Given the description of an element on the screen output the (x, y) to click on. 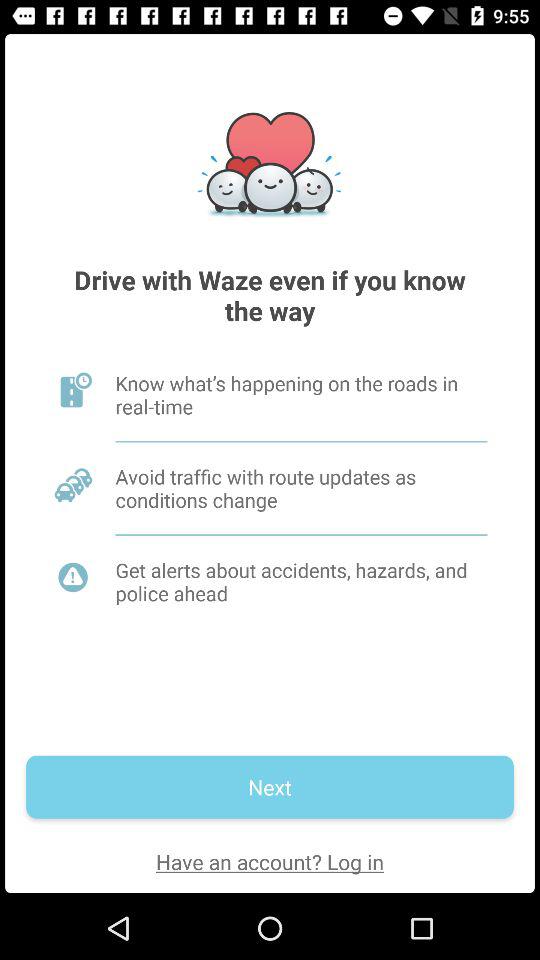
turn on the item below the next icon (270, 861)
